Given the description of an element on the screen output the (x, y) to click on. 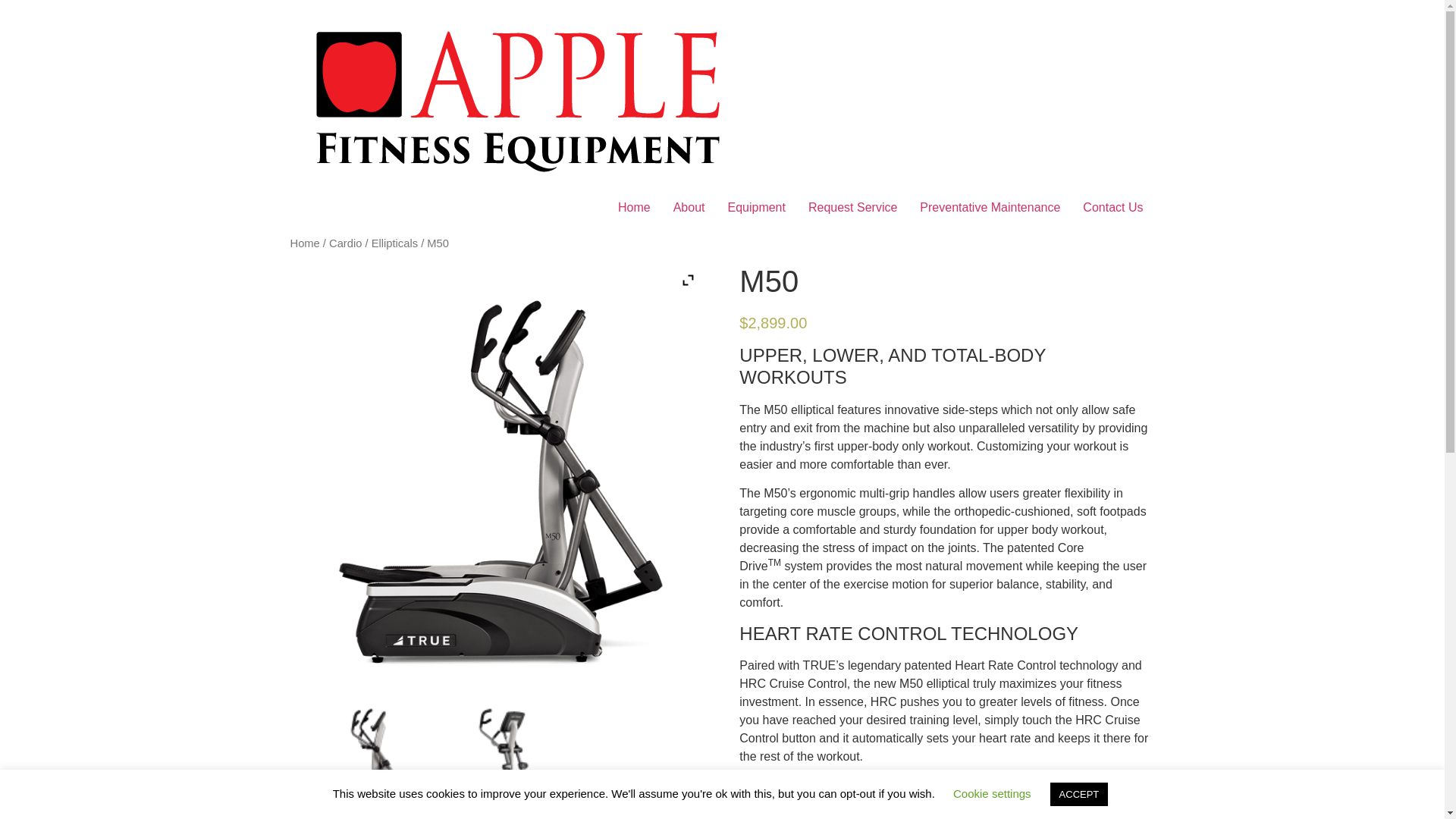
About (689, 207)
Request Service (852, 207)
Cookie settings (991, 793)
Cardio (345, 243)
Ellipticals (394, 243)
Equipment (756, 207)
ACCEPT (1078, 793)
Home (303, 243)
Preventative Maintenance (989, 207)
Contact Us (1112, 207)
Home (634, 207)
